Given the description of an element on the screen output the (x, y) to click on. 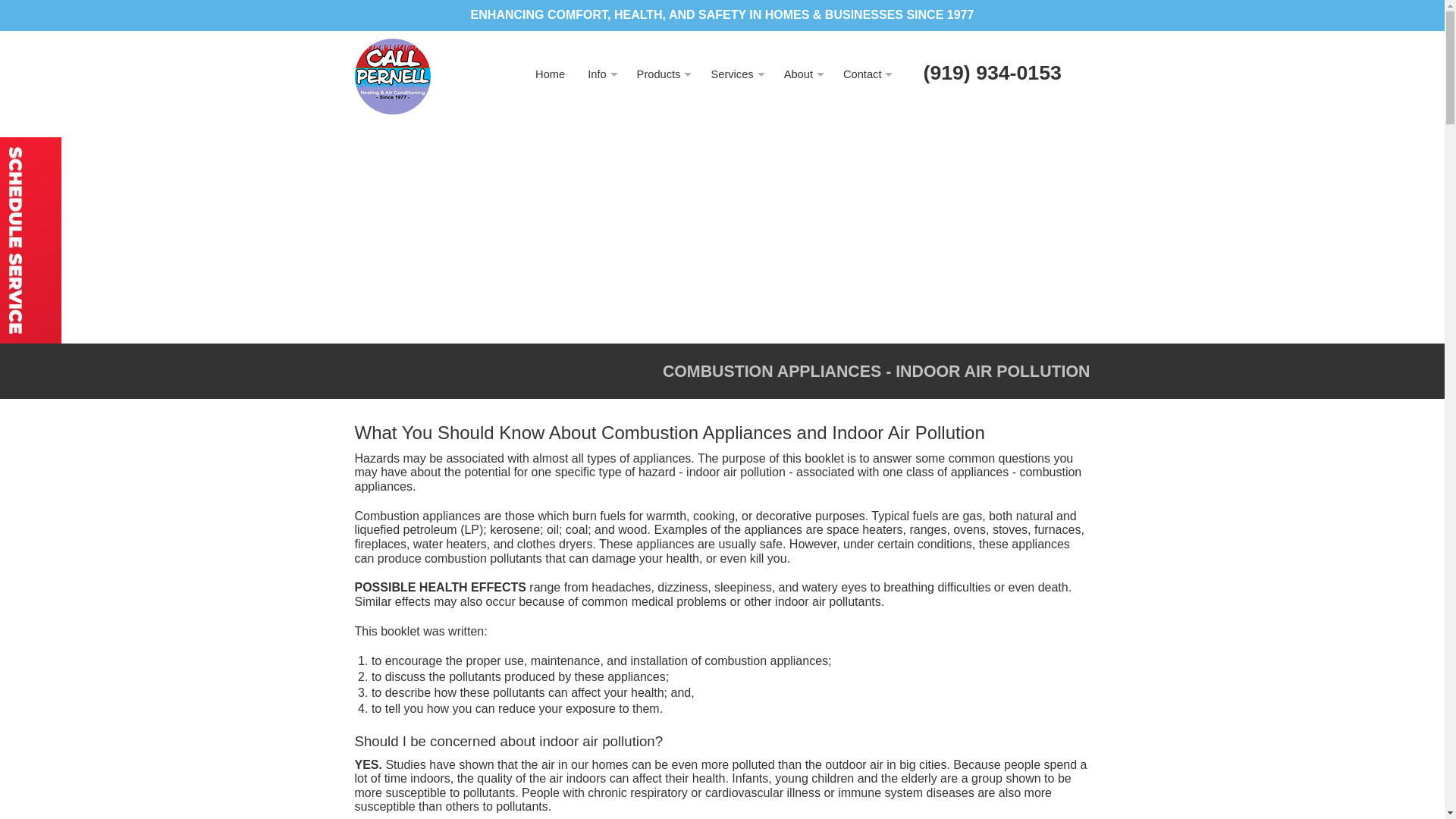
Interpreting the Sound Ratings of a Unit (553, 144)
Info (600, 74)
Selecting an HVAC Contractor (553, 110)
General Information (600, 109)
Home (550, 74)
Extended Warranty FAQs (553, 212)
Maintenance Checklist (553, 246)
How BTUs and EERs Work (553, 178)
Available Tax Credits (553, 280)
